Given the description of an element on the screen output the (x, y) to click on. 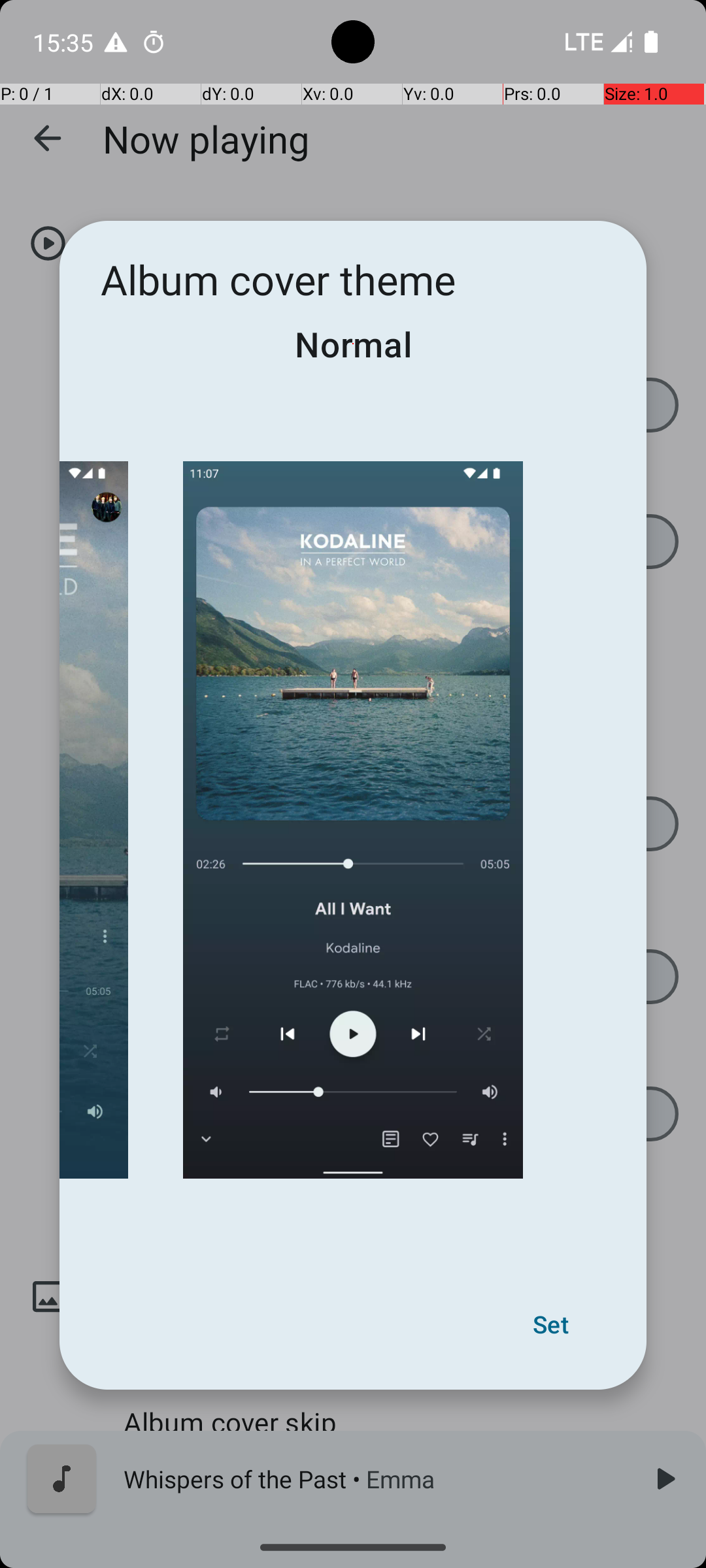
Album cover theme Element type: android.widget.TextView (278, 279)
Normal Element type: android.widget.TextView (352, 343)
Set Element type: android.widget.Button (550, 1324)
